Given the description of an element on the screen output the (x, y) to click on. 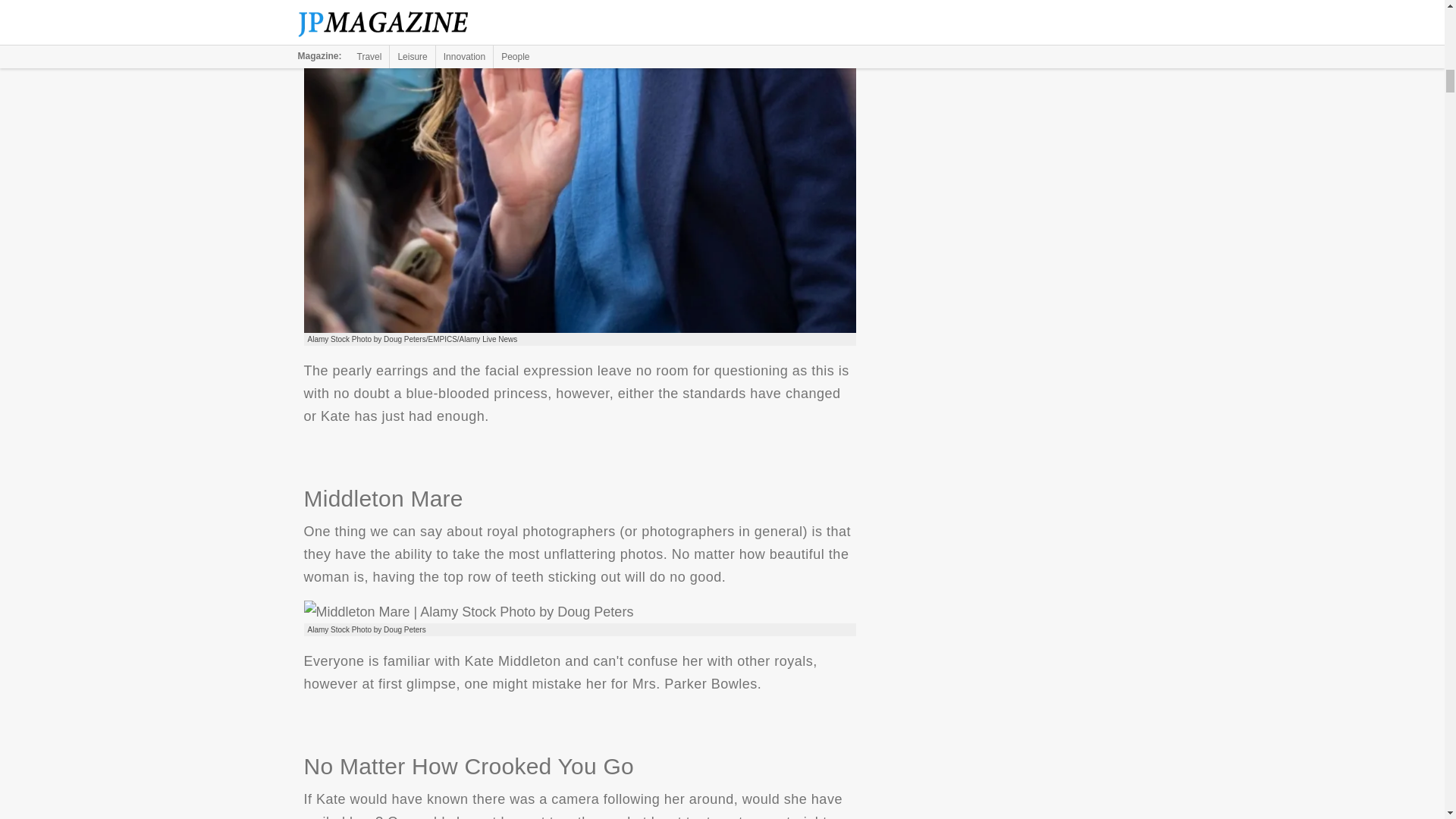
Middleton Mare (467, 611)
